Given the description of an element on the screen output the (x, y) to click on. 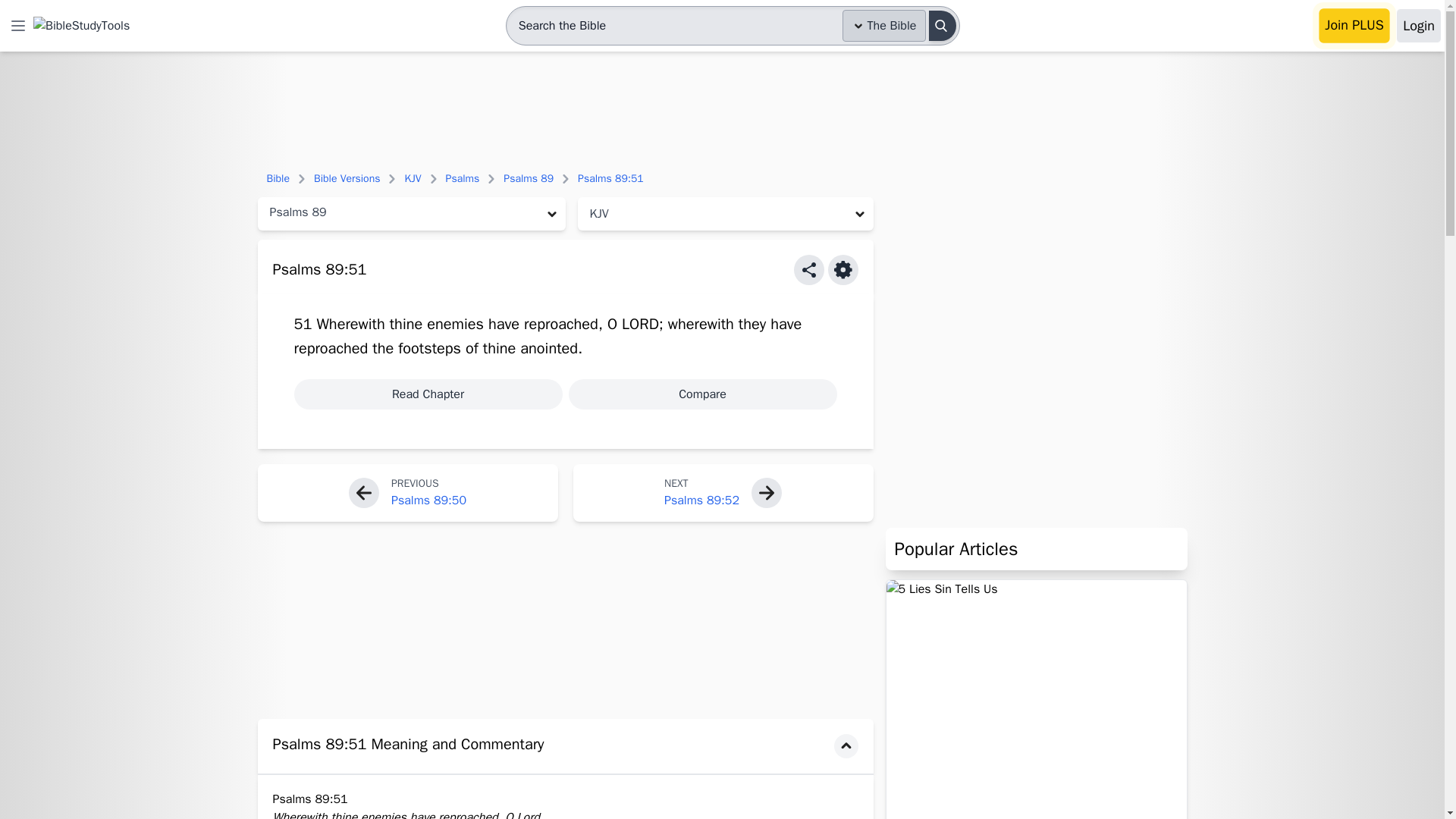
Strong's Number: 02778 (331, 348)
Strong's Number: 02778 (561, 323)
Join PLUS (1354, 25)
Strong's Number: 04899 (550, 348)
Scripture Settings (843, 269)
Strong's Number: 06119 (429, 348)
Login (1418, 25)
Strong's Number: 0341 (454, 323)
Strong's Number: 03068 (642, 323)
The Bible (884, 25)
